Given the description of an element on the screen output the (x, y) to click on. 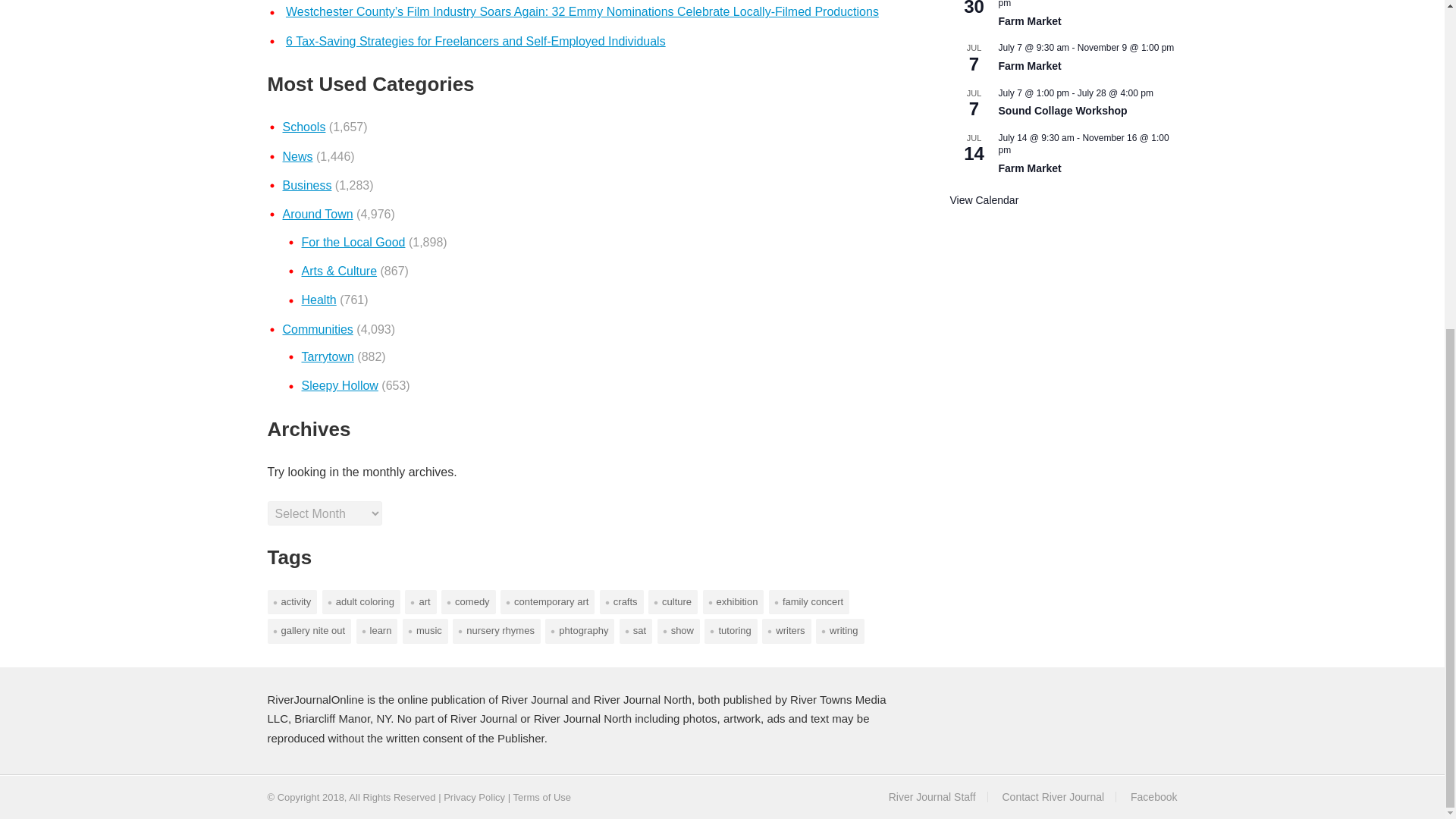
View more events. (983, 200)
Farm Market (1029, 65)
Sound Collage Workshop (1061, 110)
Farm Market (1029, 168)
Farm Market (1029, 21)
Event Series (1161, 92)
Event Series (1161, 90)
